Given the description of an element on the screen output the (x, y) to click on. 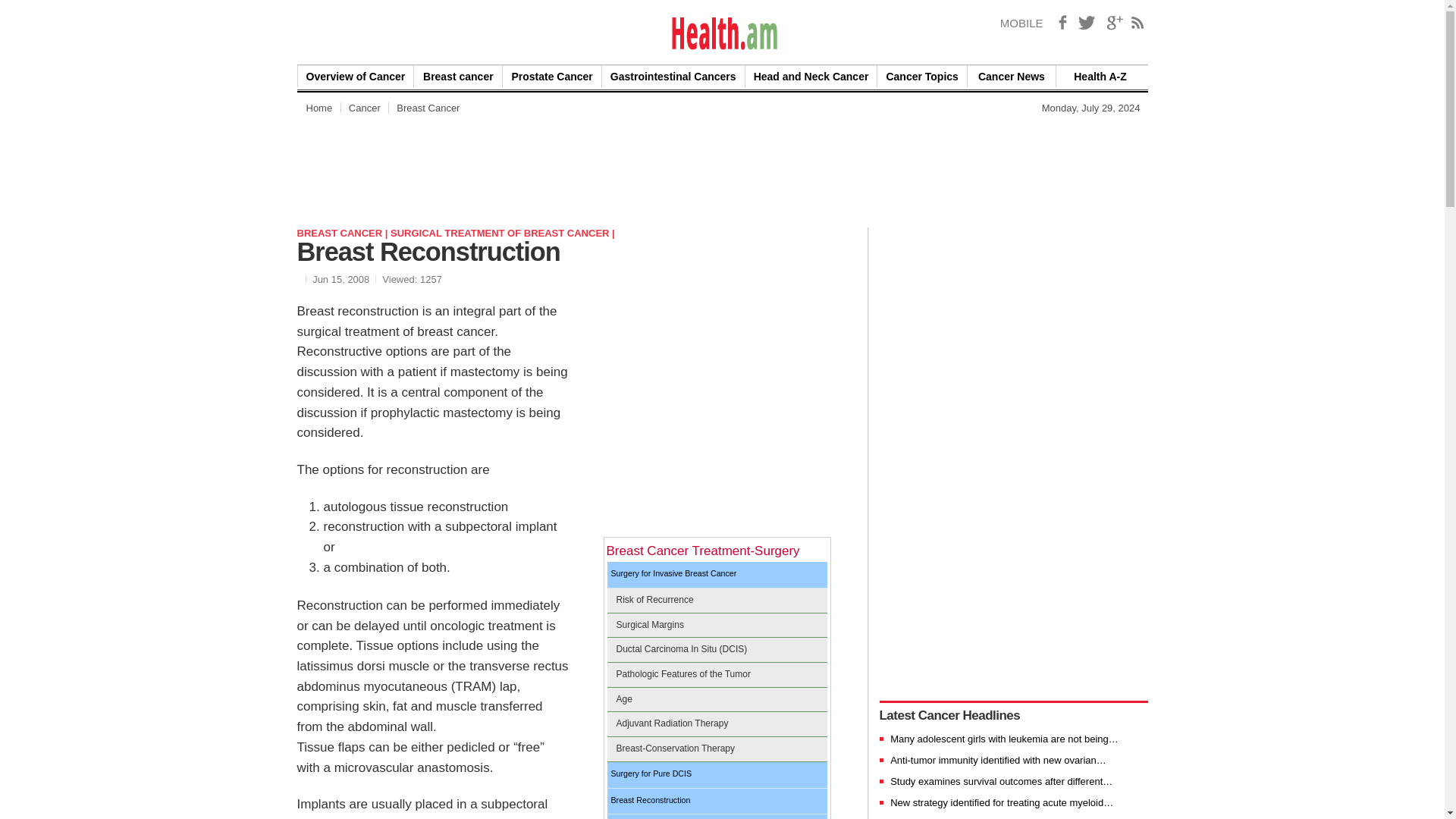
Cancer Health Center (364, 107)
Rss Feeds (1137, 22)
View all posts in Breast Cancer (344, 233)
Home (318, 107)
Breast cancer (457, 76)
health.am (722, 33)
Breast Cancer (427, 107)
Prostate Cancer (550, 76)
Advertisement (717, 435)
Overview of Cancer (355, 76)
New strategy identified for treating acute myeloid leukemia (1001, 802)
Gastrointestinal Cancers (673, 76)
